Given the description of an element on the screen output the (x, y) to click on. 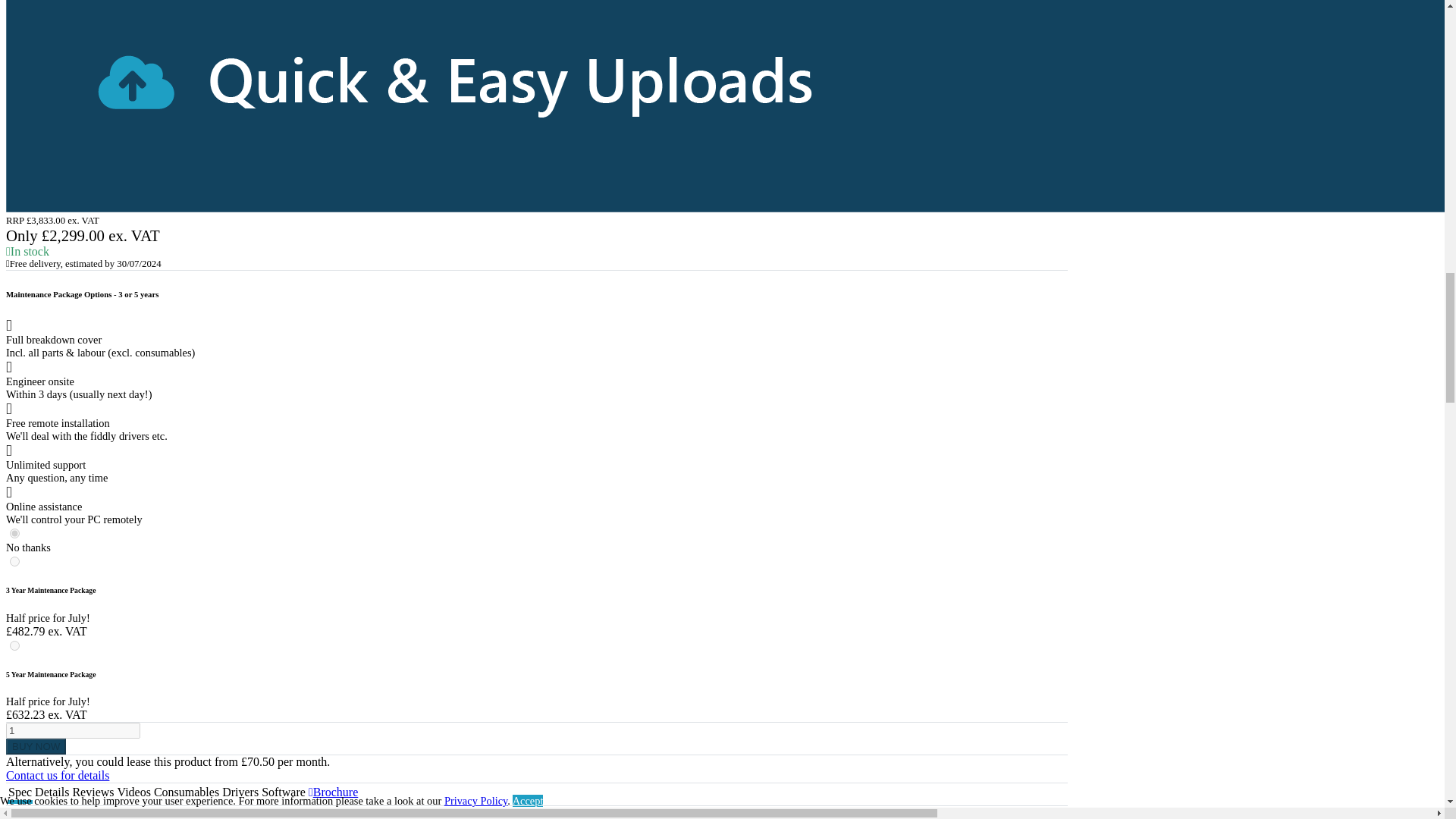
1 (72, 730)
Brochure (333, 791)
3759 (15, 561)
3761 (15, 645)
BUY NOW (35, 746)
0 (15, 533)
Contact us for details (57, 775)
